Given the description of an element on the screen output the (x, y) to click on. 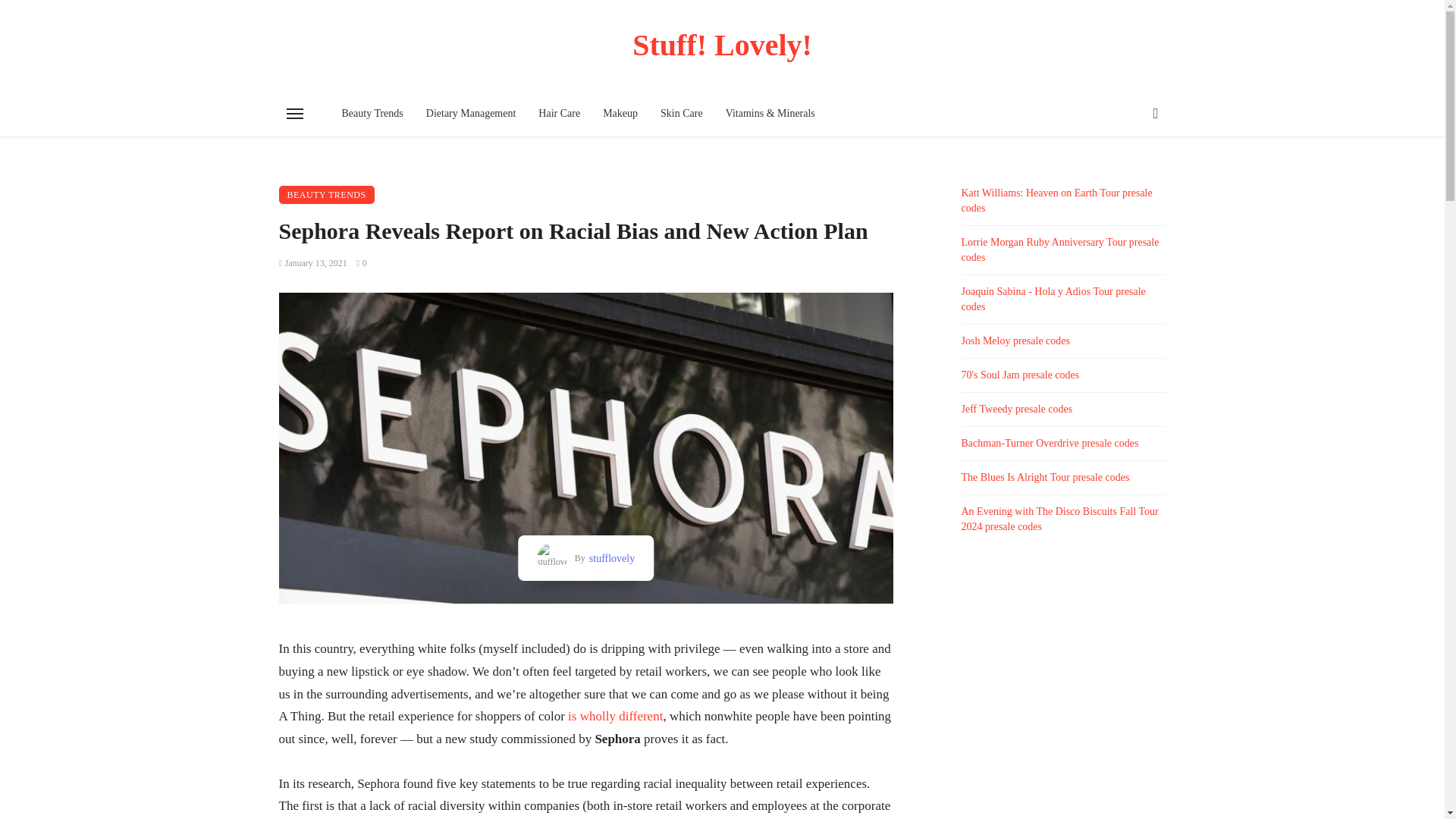
Stuff! Lovely! (722, 45)
is wholly different (614, 716)
Posts by stufflovely (609, 558)
Makeup (620, 113)
BEAUTY TRENDS (326, 194)
0 Comments (361, 262)
Skin Care (681, 113)
January 13, 2021 at 8:23 pm (313, 262)
Beauty Trends (372, 113)
stufflovely (609, 558)
0 (361, 262)
Dietary Management (470, 113)
Hair Care (559, 113)
